Given the description of an element on the screen output the (x, y) to click on. 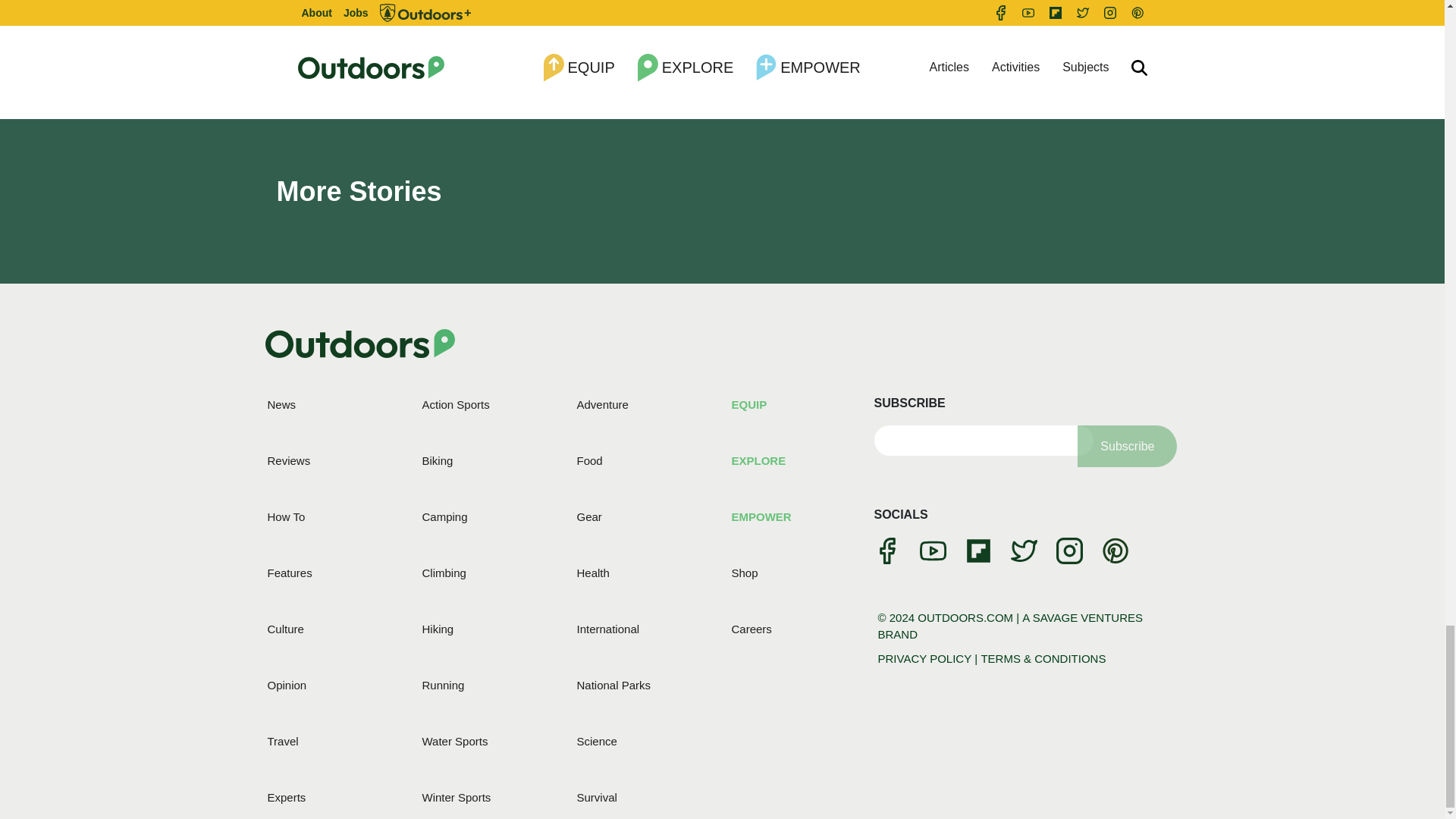
Subscribe (1126, 445)
